Given the description of an element on the screen output the (x, y) to click on. 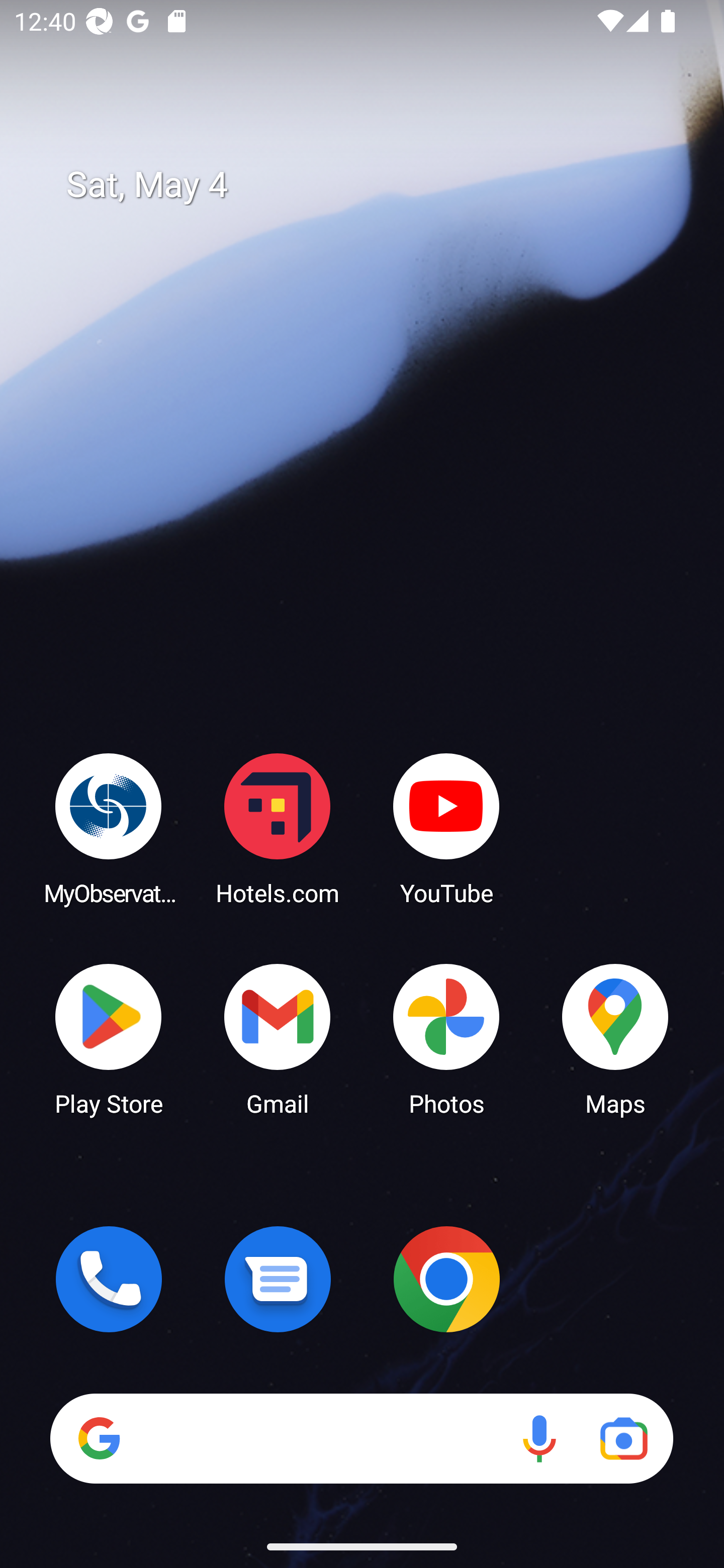
Sat, May 4 (375, 184)
MyObservatory (108, 828)
Hotels.com (277, 828)
YouTube (445, 828)
Play Store (108, 1038)
Gmail (277, 1038)
Photos (445, 1038)
Maps (615, 1038)
Phone (108, 1279)
Messages (277, 1279)
Chrome (446, 1279)
Search Voice search Google Lens (361, 1438)
Voice search (539, 1438)
Google Lens (623, 1438)
